Given the description of an element on the screen output the (x, y) to click on. 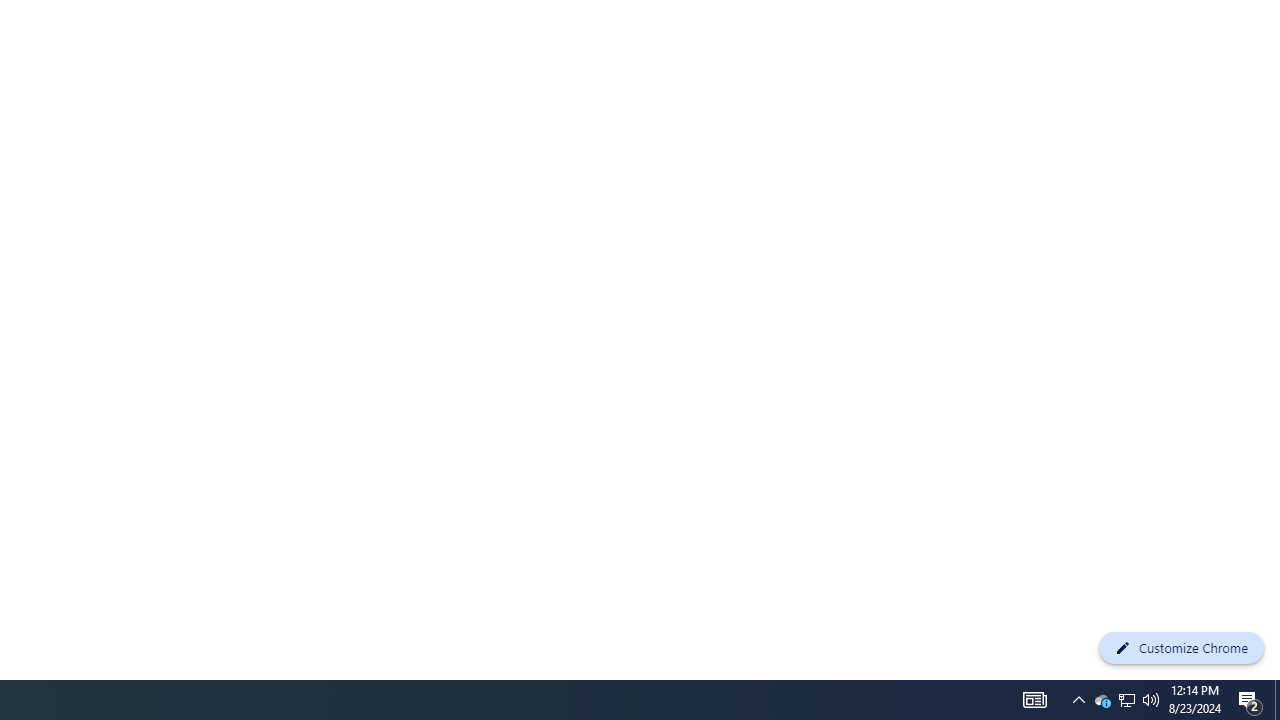
Customize Chrome (1181, 647)
